Given the description of an element on the screen output the (x, y) to click on. 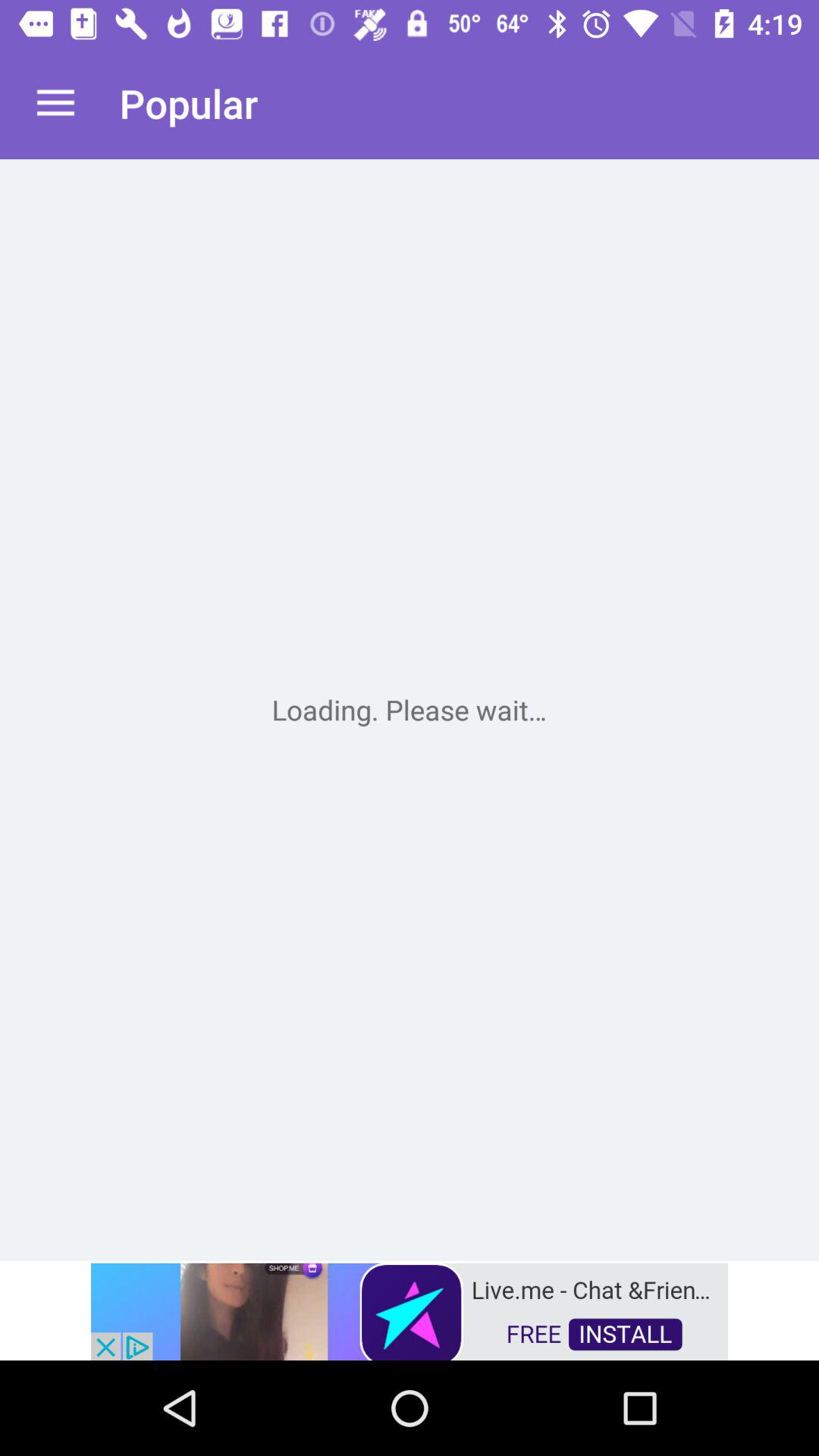
gnet problem (409, 709)
